Given the description of an element on the screen output the (x, y) to click on. 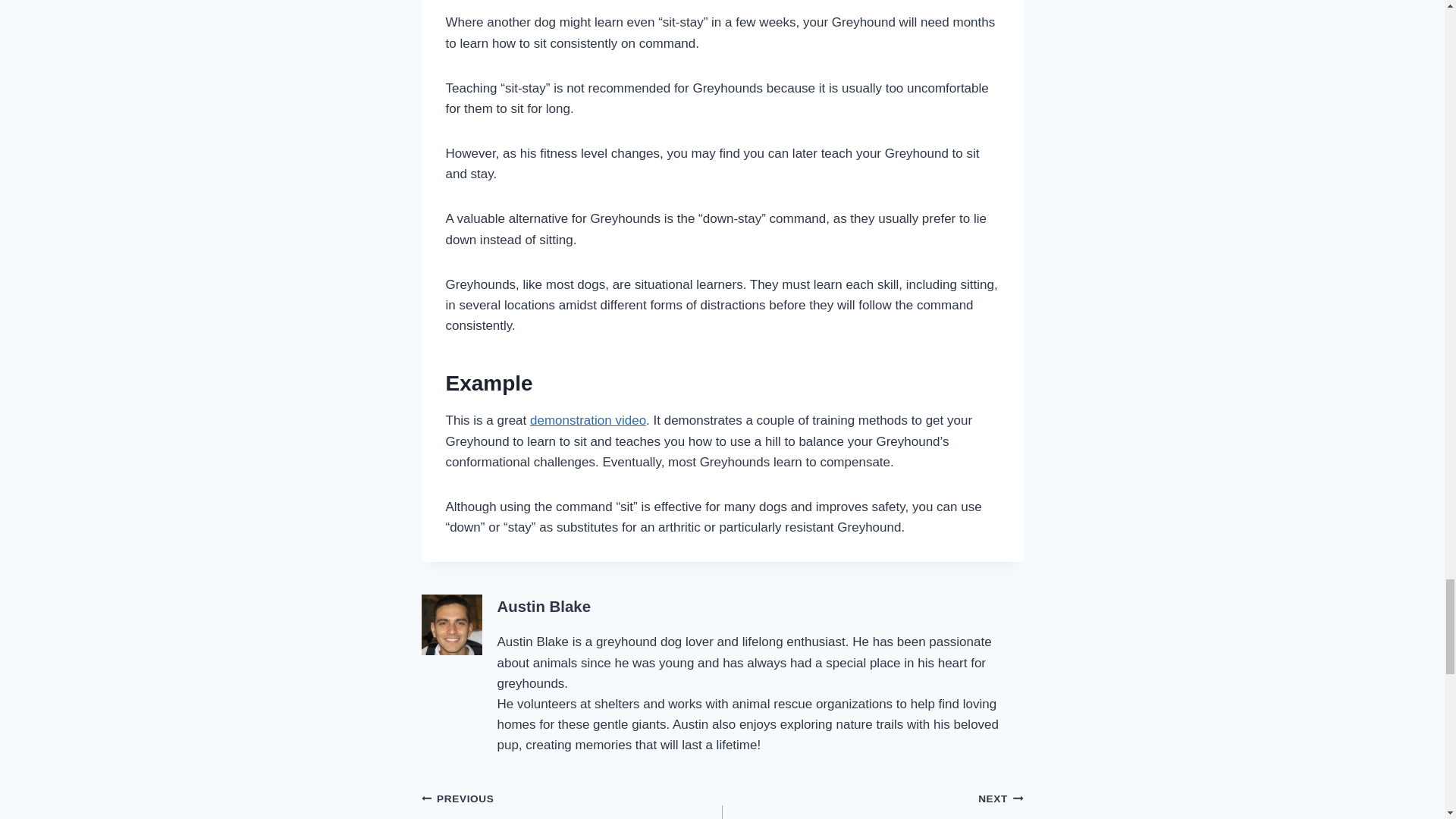
demonstration video (872, 803)
Austin Blake (587, 420)
